Given the description of an element on the screen output the (x, y) to click on. 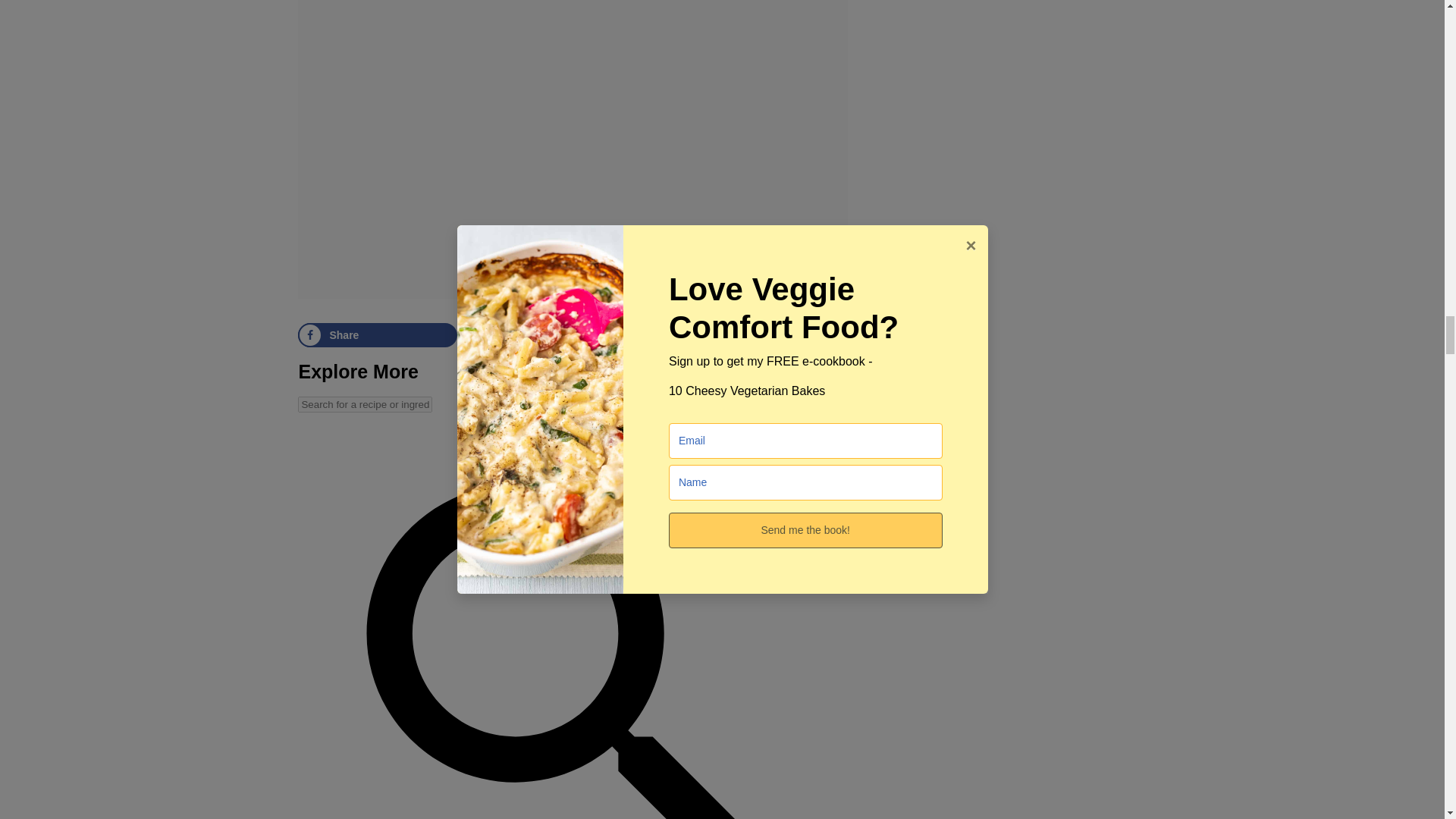
Share on X (546, 334)
Tweet (546, 334)
Share on Facebook (377, 334)
Save to Pinterest (713, 334)
Pin (713, 334)
Share (377, 334)
